Given the description of an element on the screen output the (x, y) to click on. 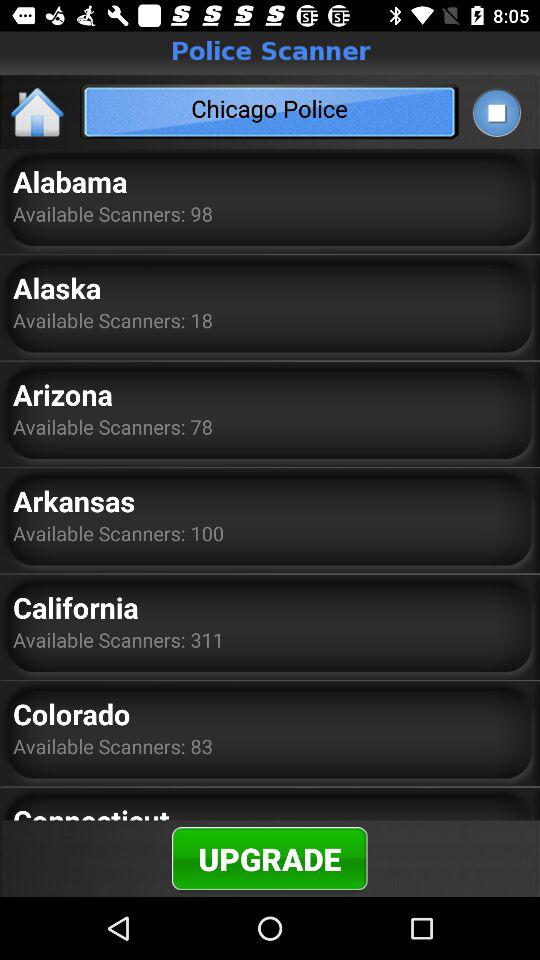
home (38, 111)
